Given the description of an element on the screen output the (x, y) to click on. 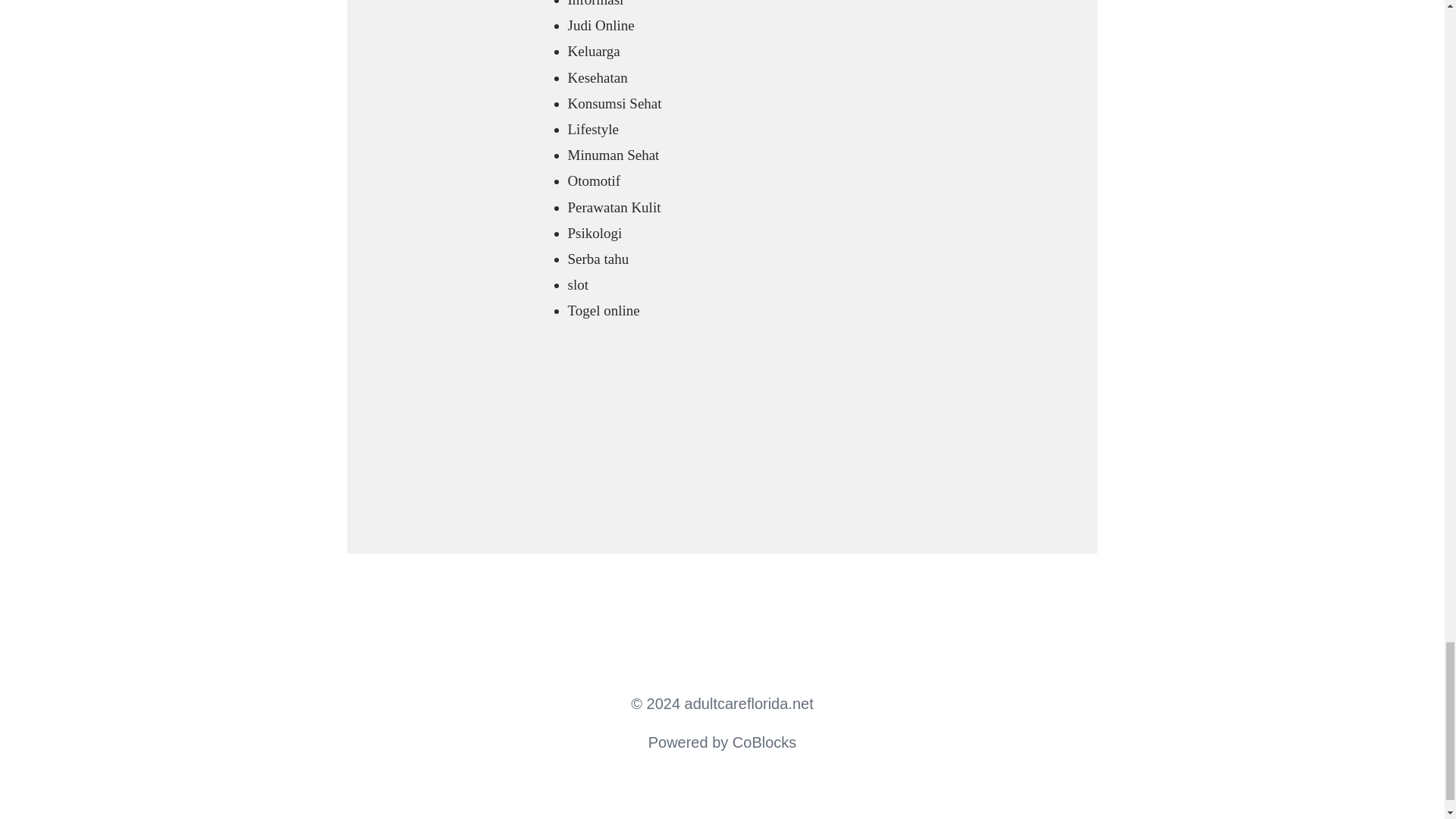
DMCA.com Protection Status (592, 471)
